Given the description of an element on the screen output the (x, y) to click on. 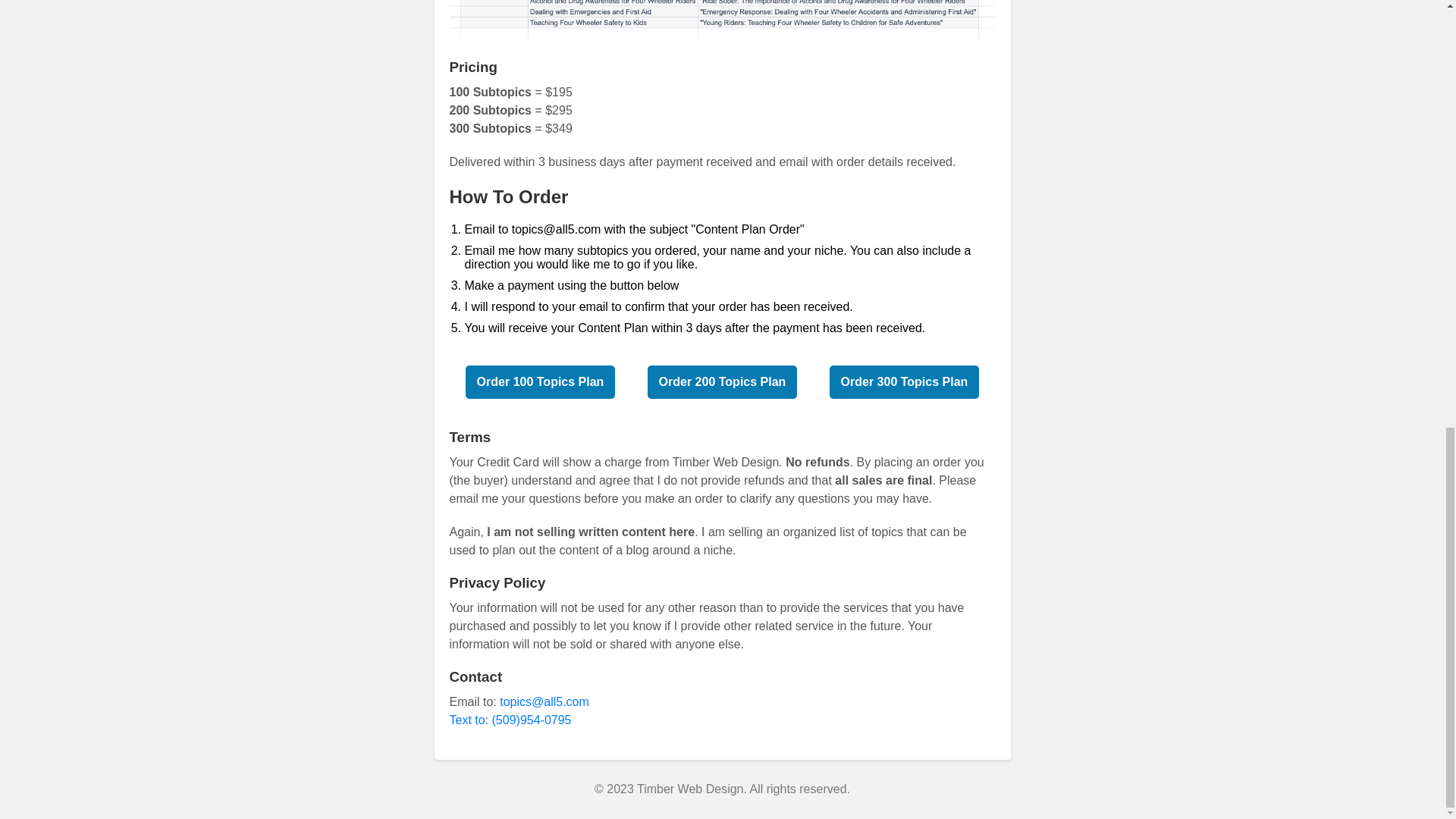
Order 200 Topics Plan (722, 381)
Order 300 Topics Plan (904, 381)
Order 100 Topics Plan (540, 381)
